Given the description of an element on the screen output the (x, y) to click on. 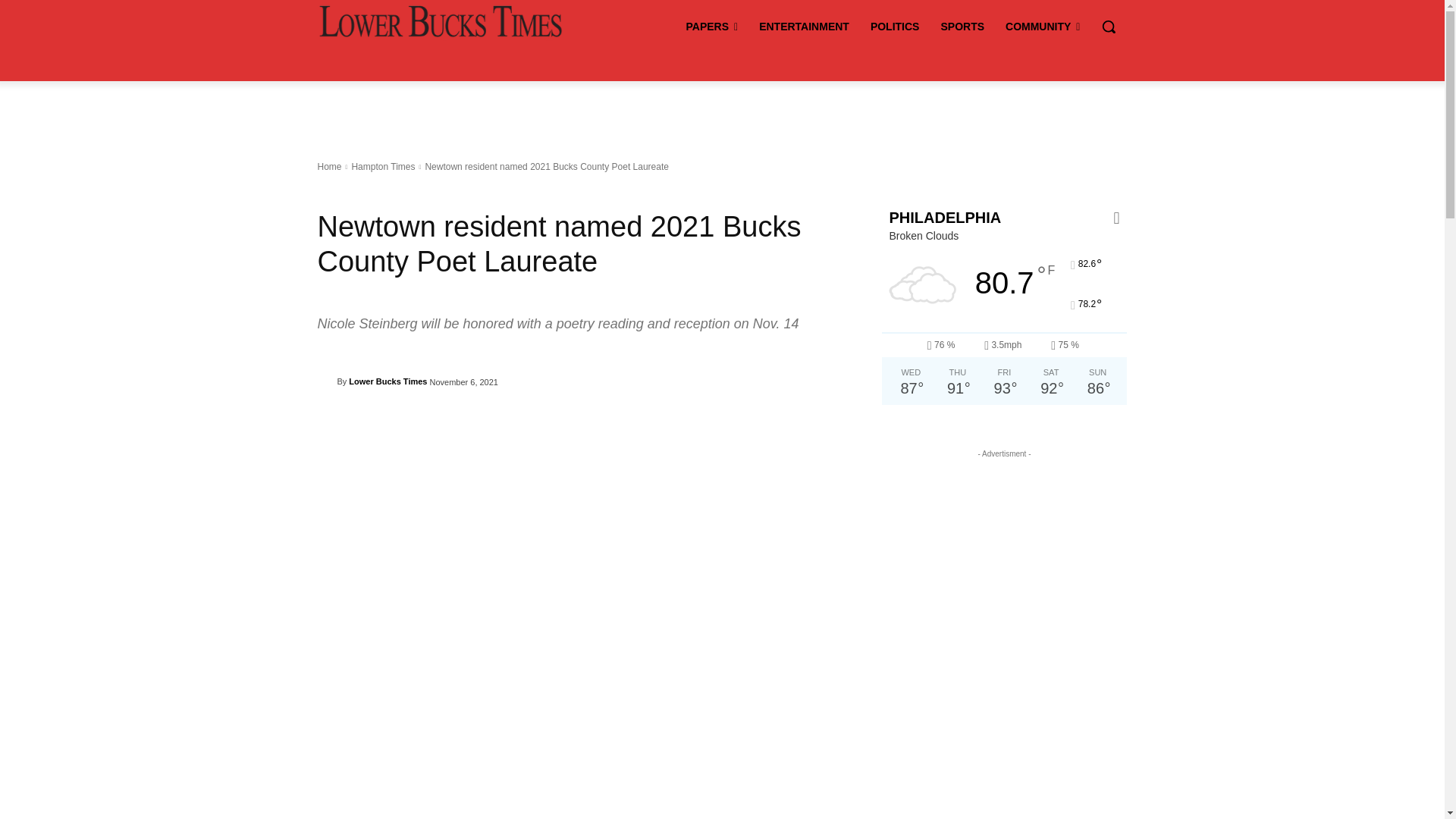
Lower Bucks Times (326, 381)
PAPERS (711, 26)
View all posts in Hampton Times (382, 166)
SPORTS (962, 26)
ENTERTAINMENT (804, 26)
POLITICS (895, 26)
COMMUNITY (1042, 26)
